Given the description of an element on the screen output the (x, y) to click on. 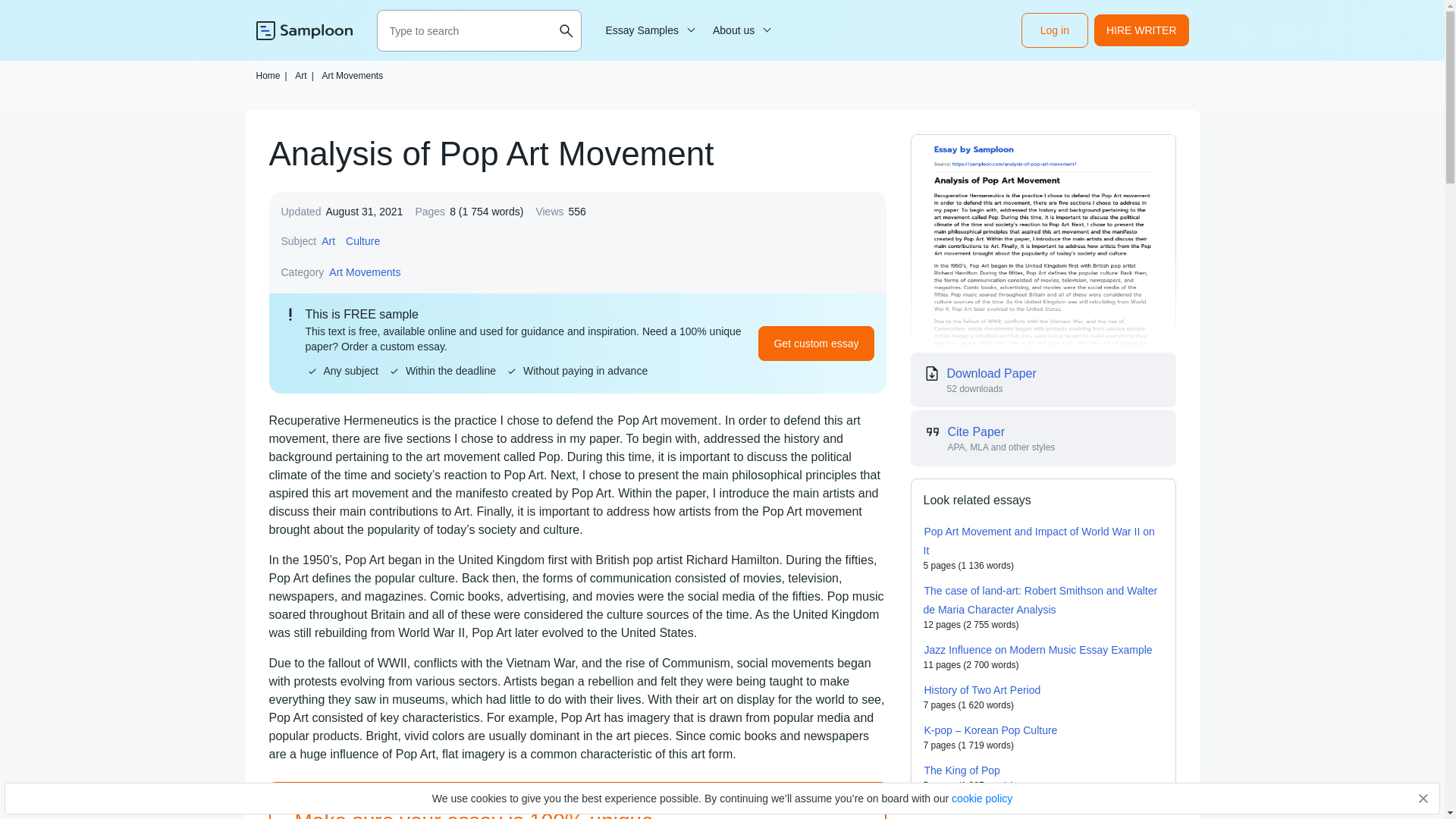
Culture (362, 241)
Art Movements (351, 75)
Art (328, 241)
About us (739, 30)
pop art movement (666, 420)
Pop Art movement (666, 420)
Art Movements (365, 272)
Essay Samples (647, 30)
